Given the description of an element on the screen output the (x, y) to click on. 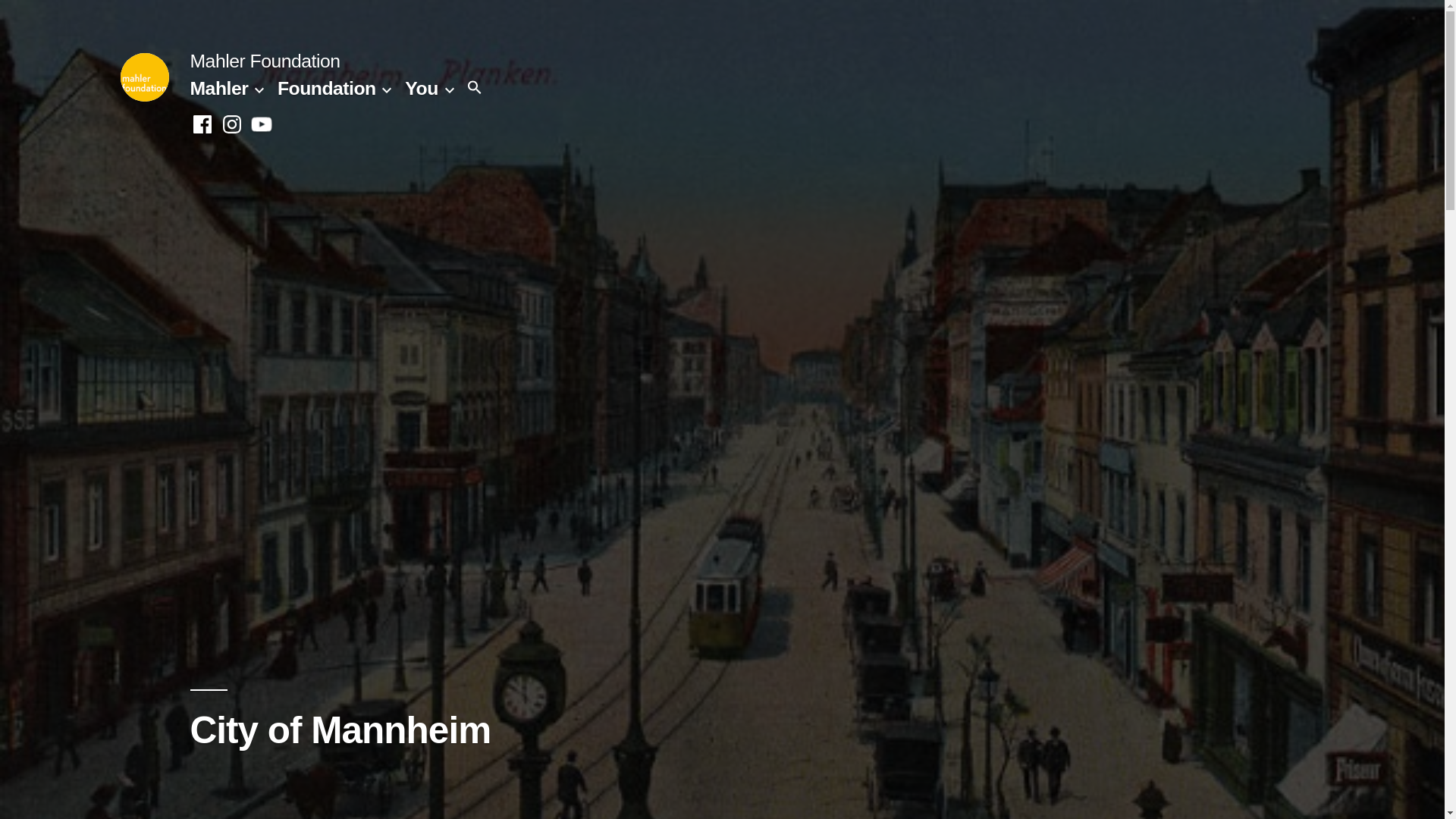
Foundation (326, 87)
Mahler Foundation (264, 60)
Mahler (218, 87)
You (421, 87)
